Given the description of an element on the screen output the (x, y) to click on. 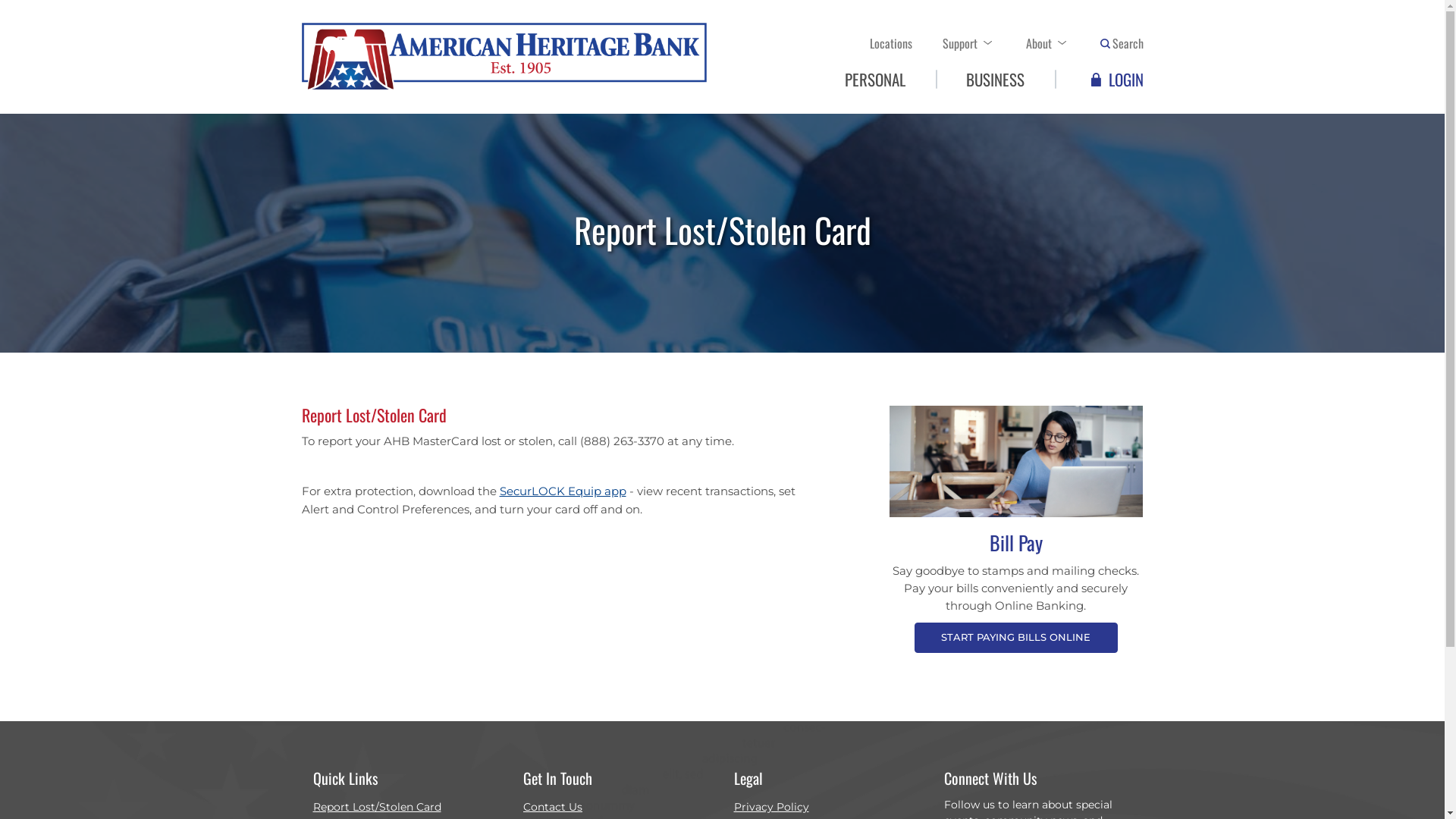
Contact Us Element type: text (583, 807)
SecurLOCK Equip app Element type: text (561, 490)
LOGIN Element type: text (1118, 79)
START PAYING BILLS ONLINE Element type: text (1015, 637)
Search Element type: text (1113, 42)
American Heritage Bank, Sapulpa, OK Element type: hover (503, 56)
Report Lost/Stolen Card Element type: text (383, 807)
Locations Element type: text (890, 43)
Privacy Policy Element type: text (794, 807)
